Given the description of an element on the screen output the (x, y) to click on. 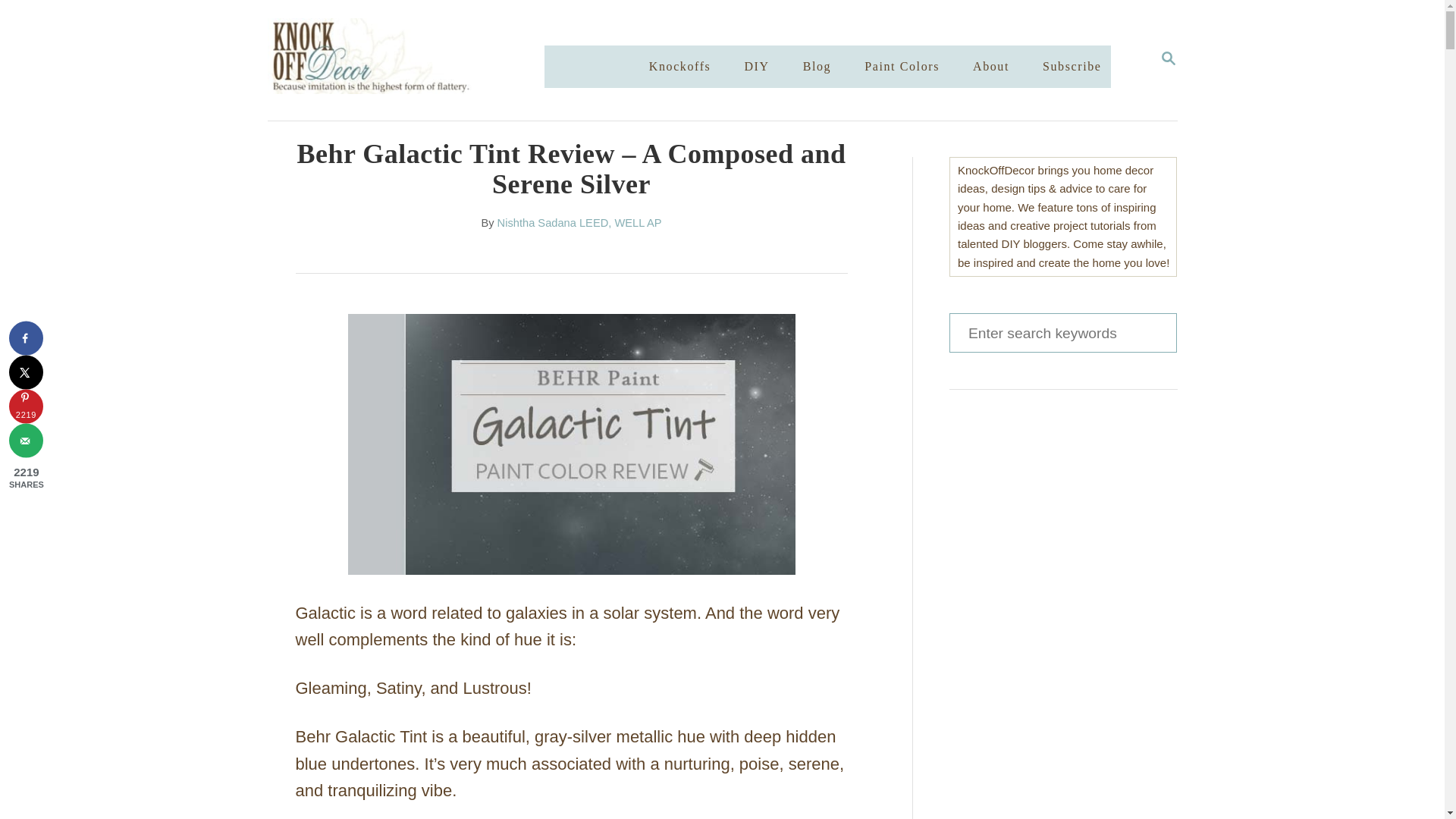
DIY (756, 66)
Blog (817, 66)
KnockOffDecor.com (420, 60)
Nishtha Sadana LEED, WELL AP (579, 223)
Subscribe (1071, 66)
behr-galactic-tint-featured-image (571, 444)
MAGNIFYING GLASS (1167, 58)
Paint Colors (902, 66)
Knockoffs (680, 66)
About (990, 66)
